Given the description of an element on the screen output the (x, y) to click on. 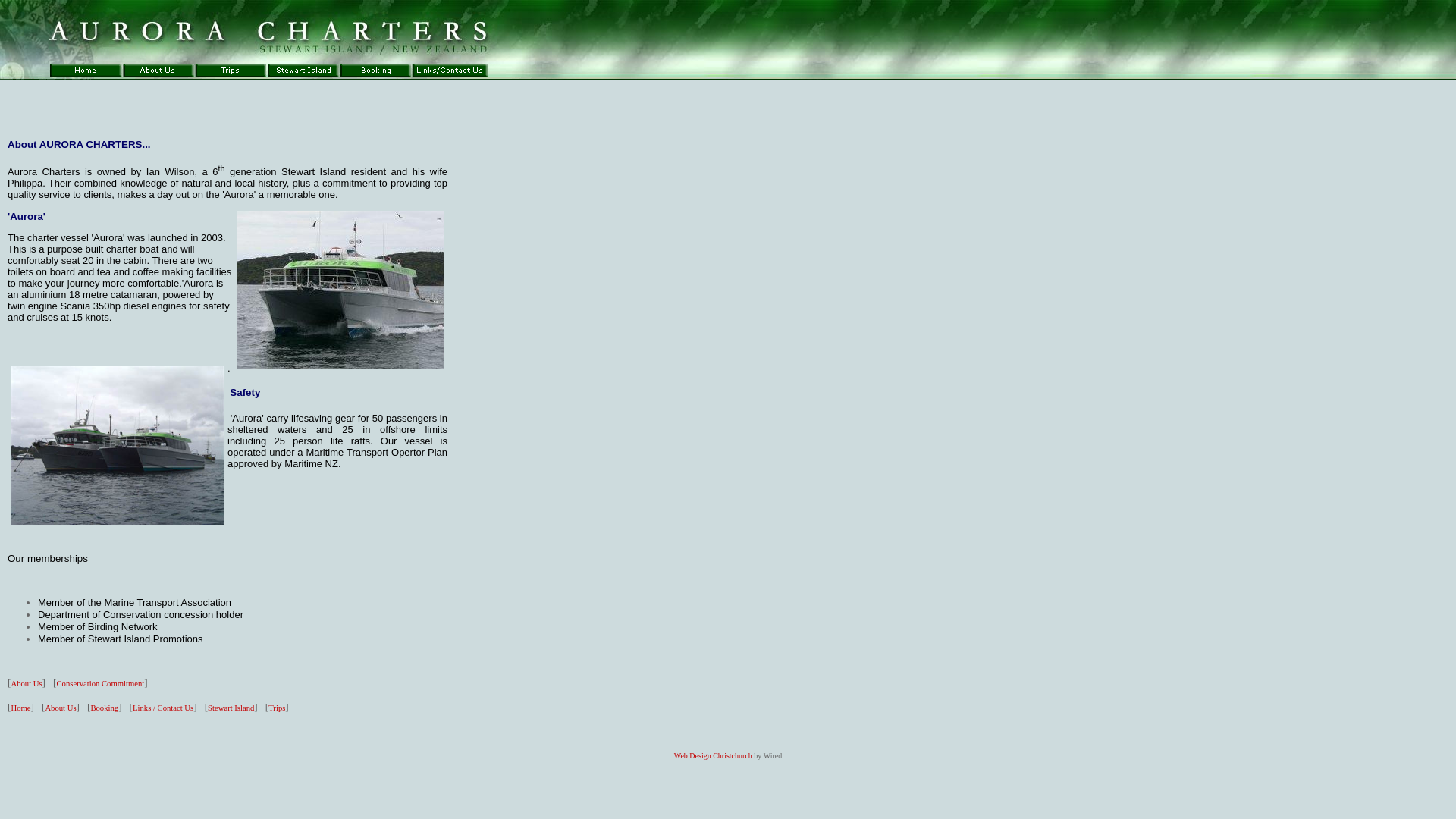
Web Design Christchurch (713, 755)
About Us (26, 683)
Trips (276, 707)
About Us (60, 707)
Booking (103, 707)
Stewart Island (230, 707)
Home (20, 707)
Conservation Commitment (100, 683)
